Given the description of an element on the screen output the (x, y) to click on. 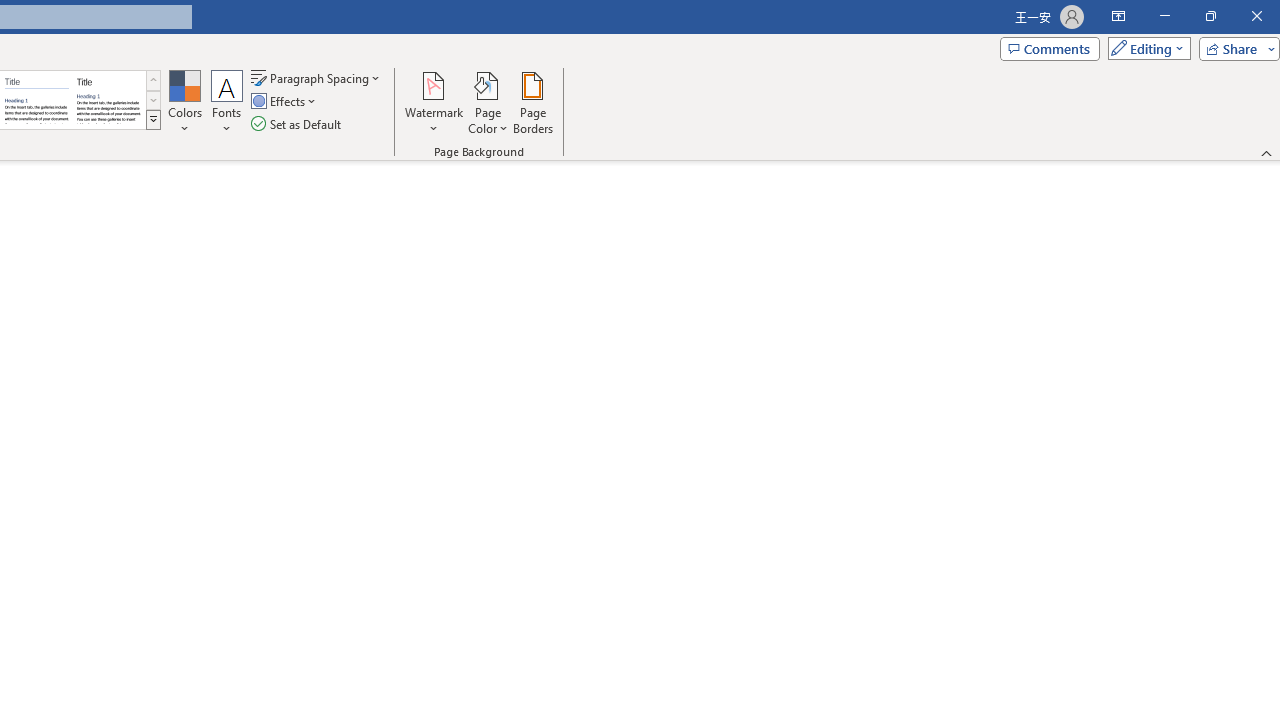
Colors (184, 102)
Page Borders... (532, 102)
Fonts (227, 102)
Word 2013 (108, 100)
Style Set (153, 120)
Word 2010 (36, 100)
Page Color (487, 102)
Paragraph Spacing (317, 78)
Watermark (434, 102)
